Given the description of an element on the screen output the (x, y) to click on. 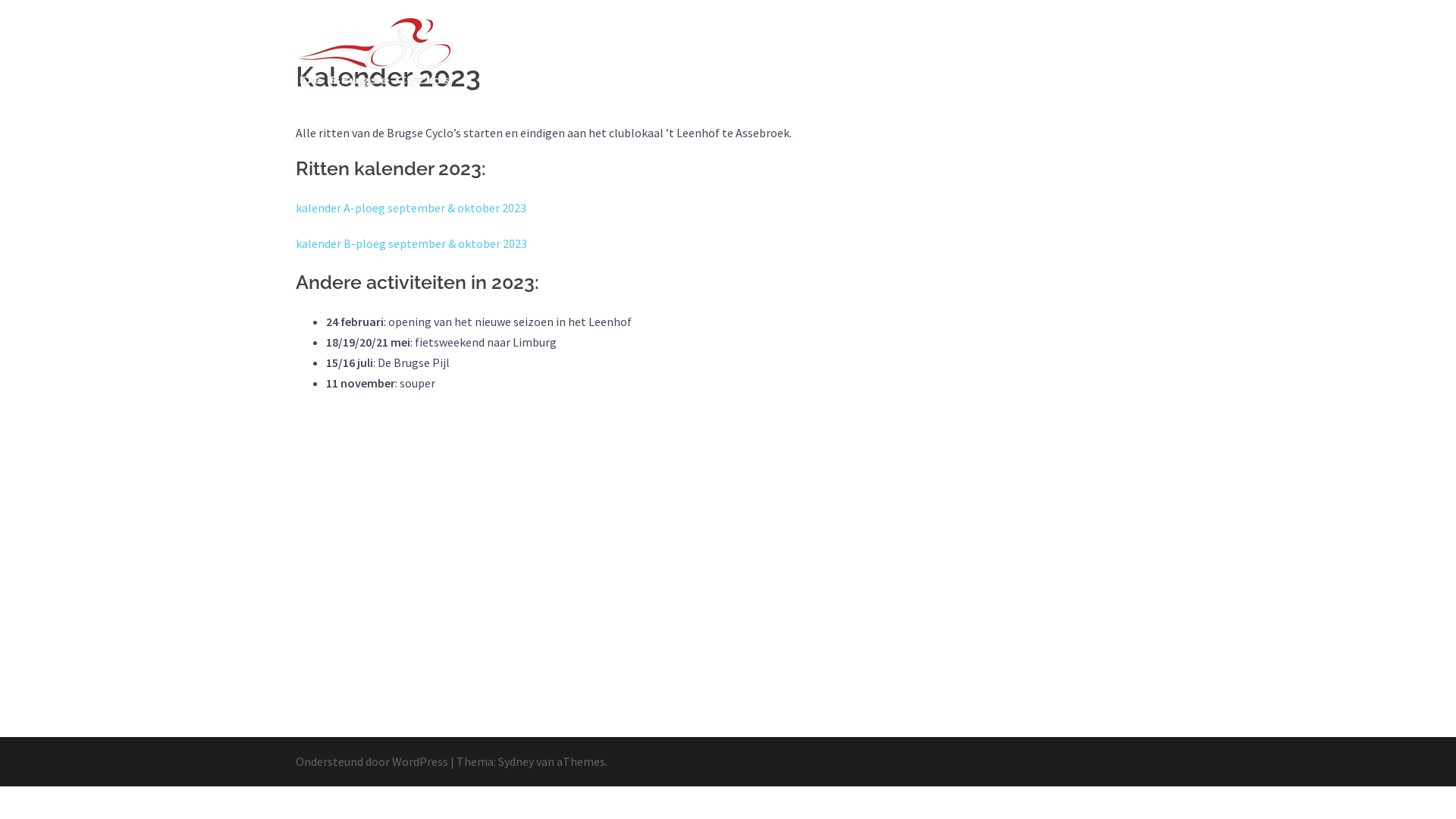
Klassement Element type: text (986, 51)
Sydney Element type: text (515, 760)
kalender B-ploeg september & oktober 2023 Element type: text (411, 243)
Contact Element type: text (1129, 51)
Kalender 2023 Element type: text (899, 51)
De Brugse Cyclos Element type: hover (375, 49)
Kledij Element type: text (761, 51)
Brugse Pijl Element type: text (1062, 51)
Ondersteund door WordPress Element type: text (371, 760)
kalender A-ploeg september & oktober 2023 Element type: text (410, 207)
Sponsors Element type: text (820, 51)
Spring naar inhoud Element type: text (0, 0)
Algemeen Element type: text (701, 51)
